Given the description of an element on the screen output the (x, y) to click on. 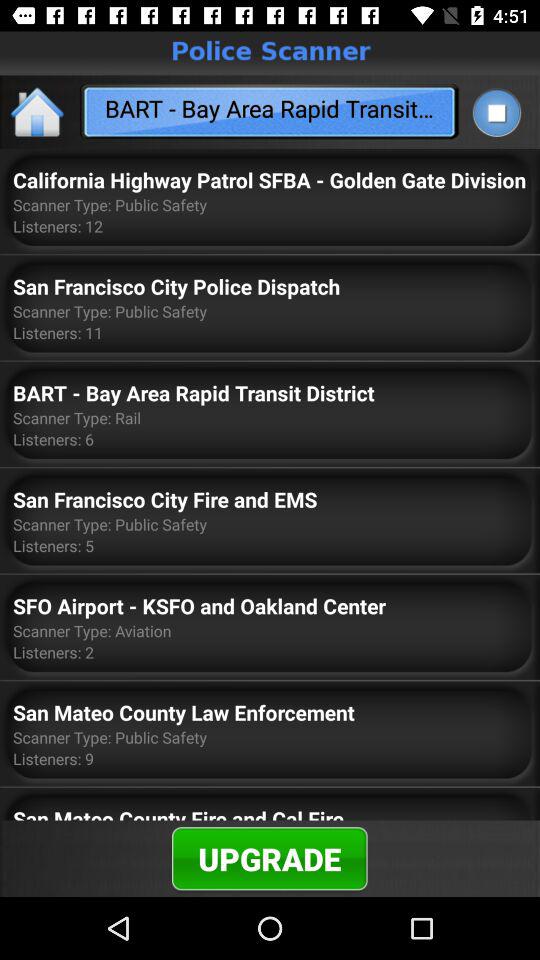
tap the item above the scanner type public app (269, 179)
